Given the description of an element on the screen output the (x, y) to click on. 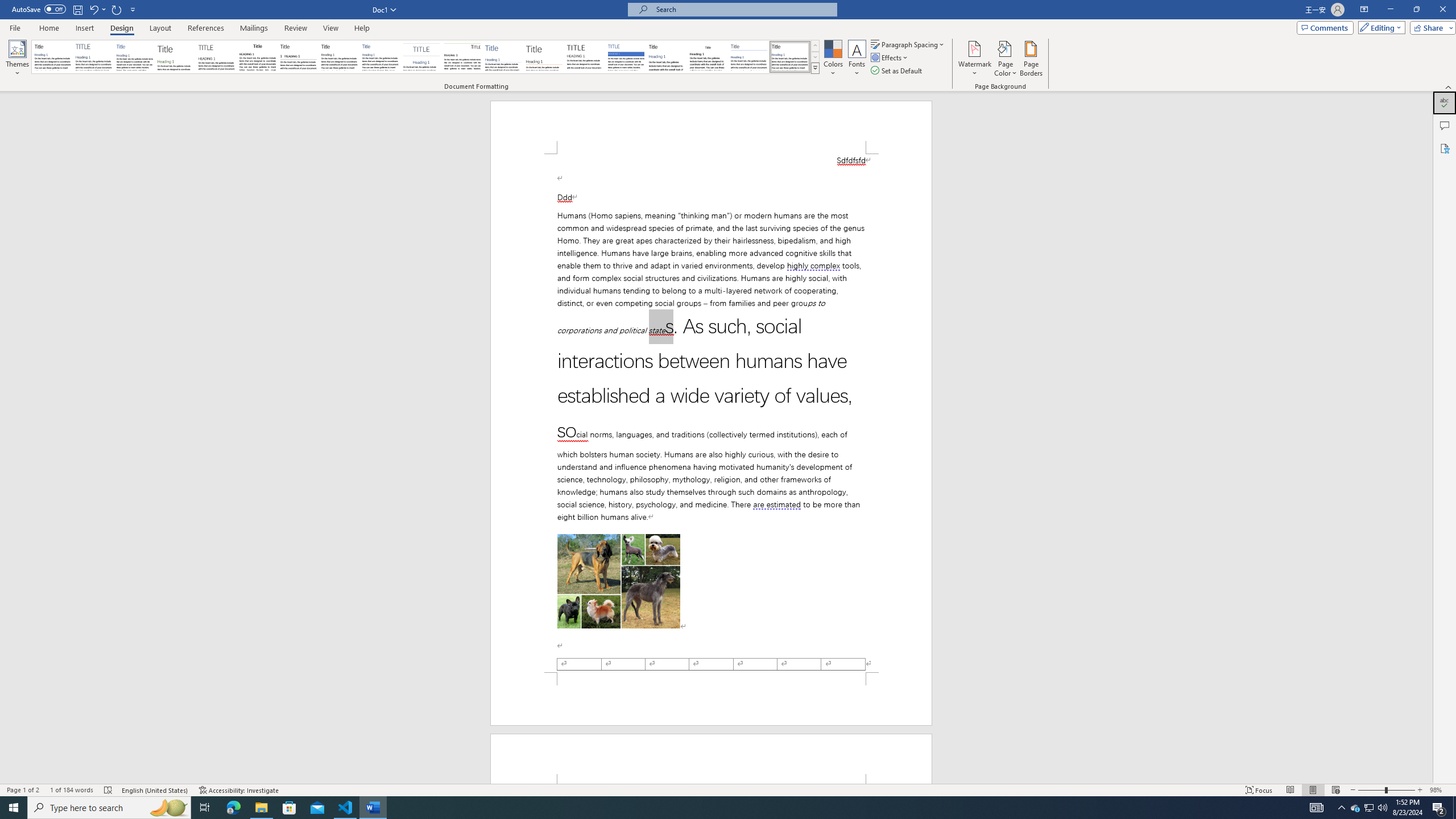
Undo Apply Quick Style Set (96, 9)
AutomationID: QuickStylesSets (425, 56)
Style Set (814, 67)
Word 2013 (790, 56)
Watermark (974, 58)
Page Number Page 1 of 2 (22, 790)
Black & White (Numbered) (298, 56)
